Given the description of an element on the screen output the (x, y) to click on. 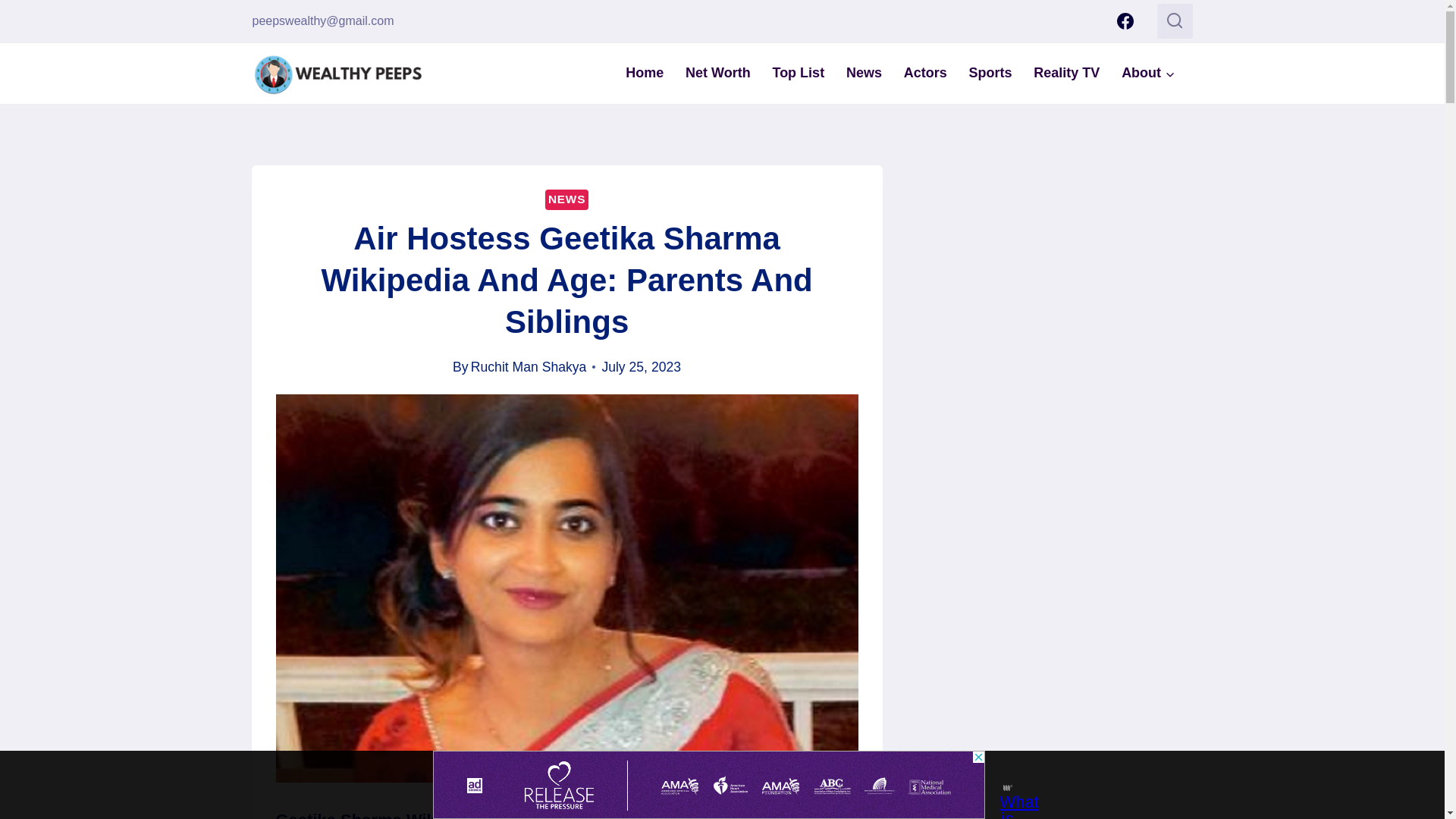
About (1148, 72)
Top List (797, 72)
Home (644, 72)
Actors (925, 72)
News (864, 72)
Reality TV (1066, 72)
Sports (990, 72)
3rd party ad content (1066, 259)
Ruchit Man Shakya (528, 366)
3rd party ad content (708, 785)
NEWS (566, 199)
Net Worth (718, 72)
